Given the description of an element on the screen output the (x, y) to click on. 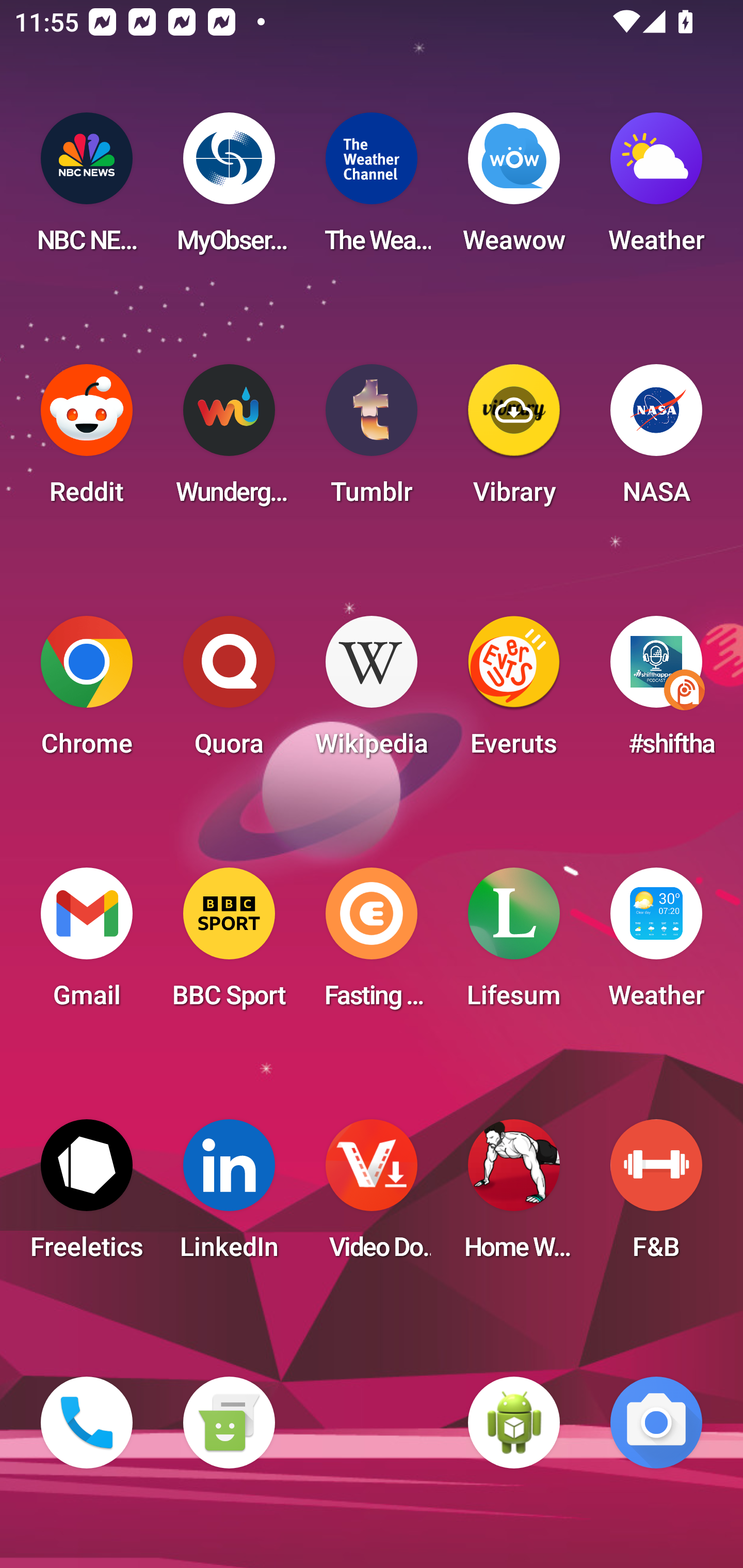
NBC NEWS (86, 188)
MyObservatory (228, 188)
The Weather Channel (371, 188)
Weawow (513, 188)
Weather (656, 188)
Reddit (86, 440)
Wunderground (228, 440)
Tumblr (371, 440)
Vibrary (513, 440)
NASA (656, 440)
Chrome (86, 692)
Quora (228, 692)
Wikipedia (371, 692)
Everuts (513, 692)
#shifthappens in the Digital Workplace Podcast (656, 692)
Gmail (86, 943)
BBC Sport (228, 943)
Fasting Coach (371, 943)
Lifesum (513, 943)
Weather (656, 943)
Freeletics (86, 1195)
LinkedIn (228, 1195)
Video Downloader & Ace Player (371, 1195)
Home Workout (513, 1195)
F&B (656, 1195)
Phone (86, 1422)
Messaging (228, 1422)
WebView Browser Tester (513, 1422)
Camera (656, 1422)
